Given the description of an element on the screen output the (x, y) to click on. 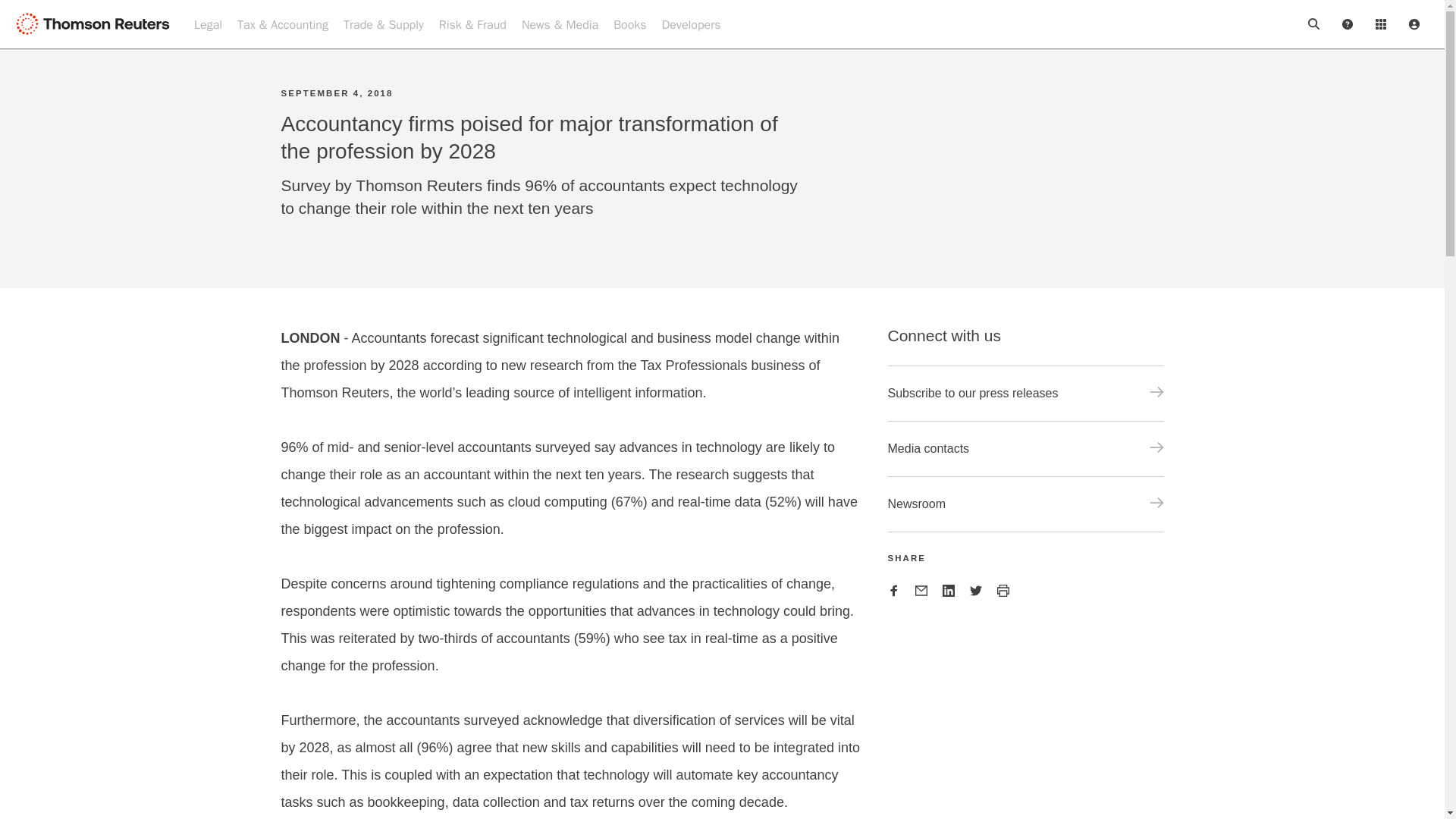
Legal (208, 24)
Developers (691, 24)
Books (629, 24)
